Given the description of an element on the screen output the (x, y) to click on. 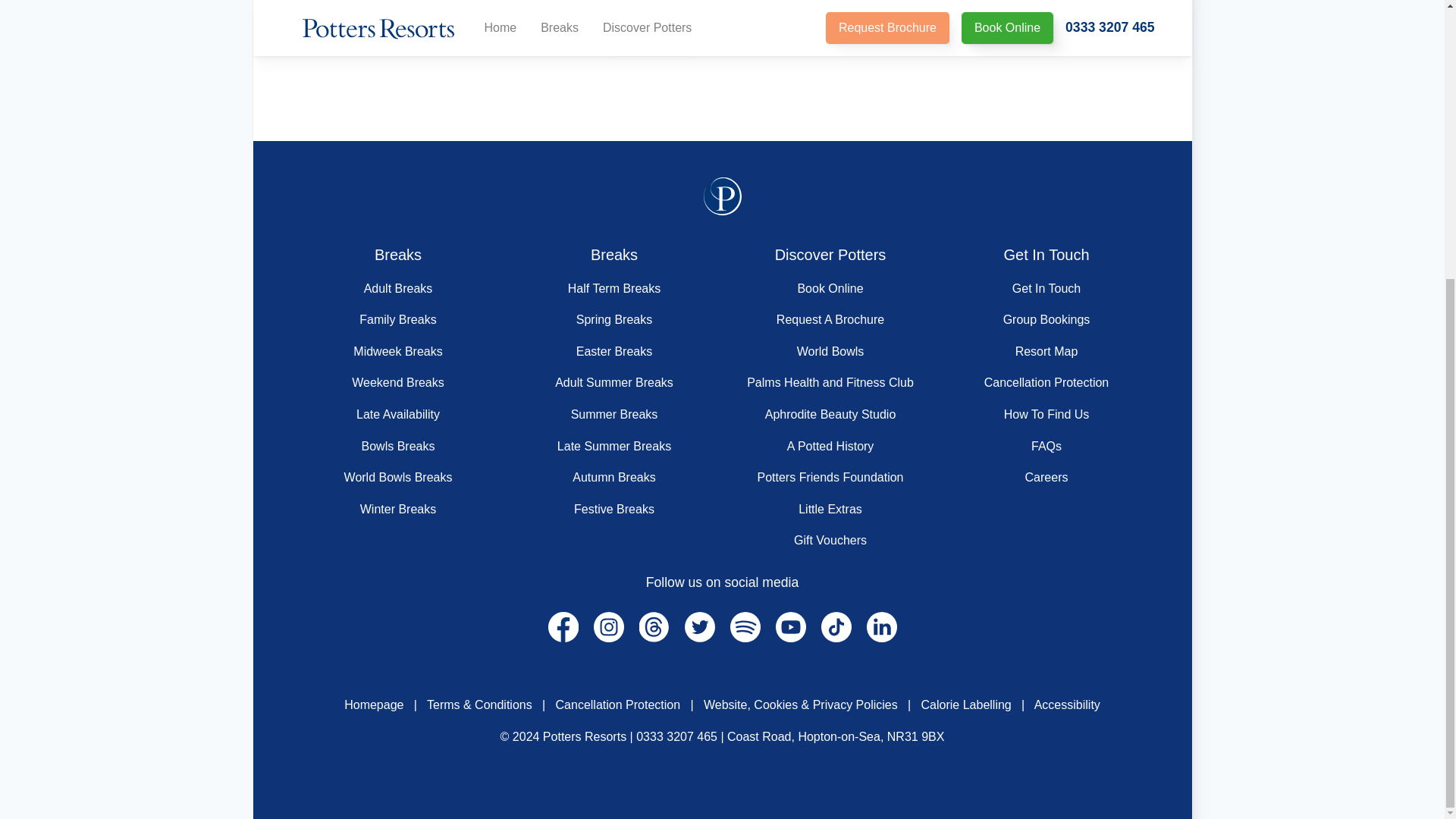
Gift Vouchers (829, 540)
Family Breaks (397, 318)
Easter Breaks (614, 350)
Summer Breaks (614, 413)
Potters Friends Foundation (829, 477)
Little Extras (829, 508)
Get In Touch (1045, 287)
Potter's Logo (722, 196)
Resort Map (1046, 350)
Request A Brochure (829, 318)
